Given the description of an element on the screen output the (x, y) to click on. 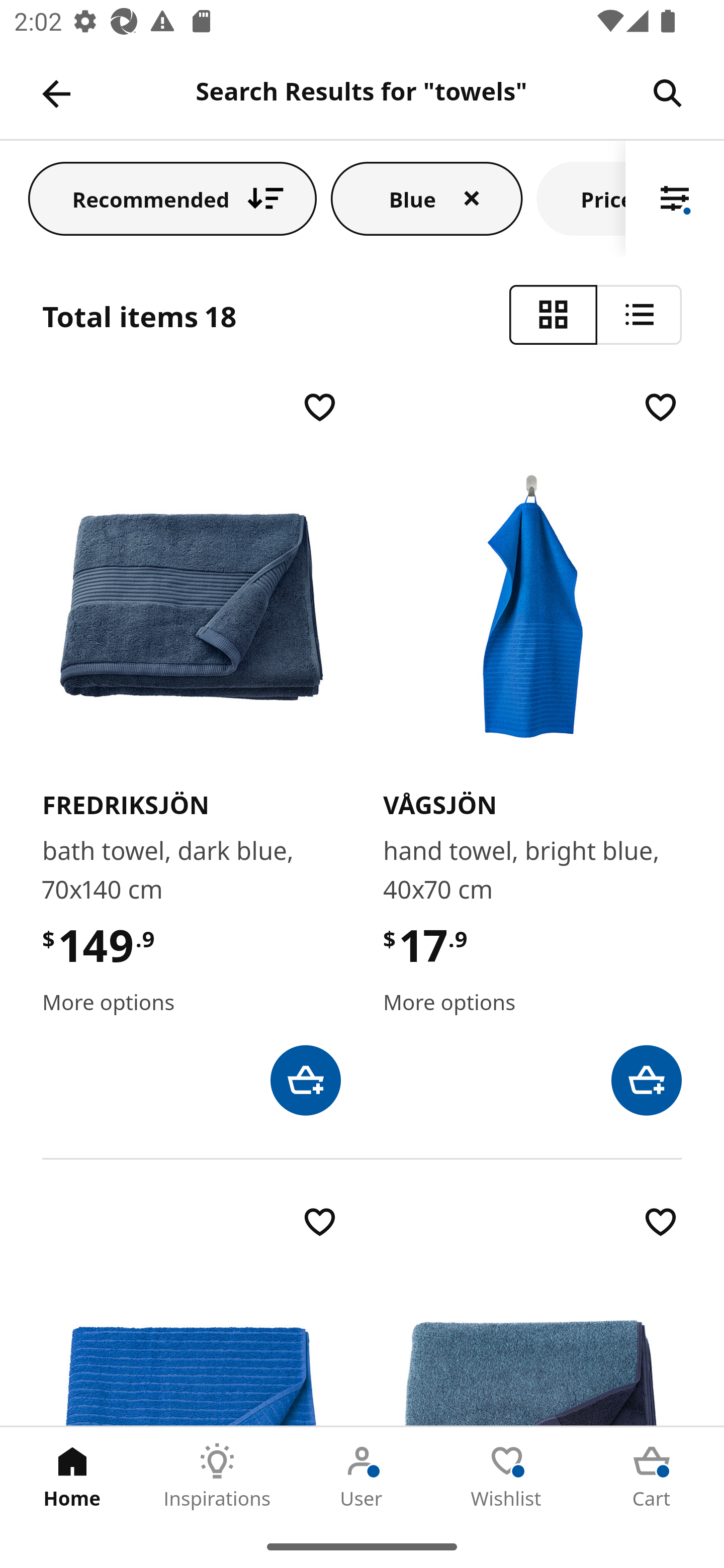
Recommended (172, 198)
Blue (426, 198)
Price (581, 198)
Home
Tab 1 of 5 (72, 1476)
Inspirations
Tab 2 of 5 (216, 1476)
User
Tab 3 of 5 (361, 1476)
Wishlist
Tab 4 of 5 (506, 1476)
Cart
Tab 5 of 5 (651, 1476)
